Given the description of an element on the screen output the (x, y) to click on. 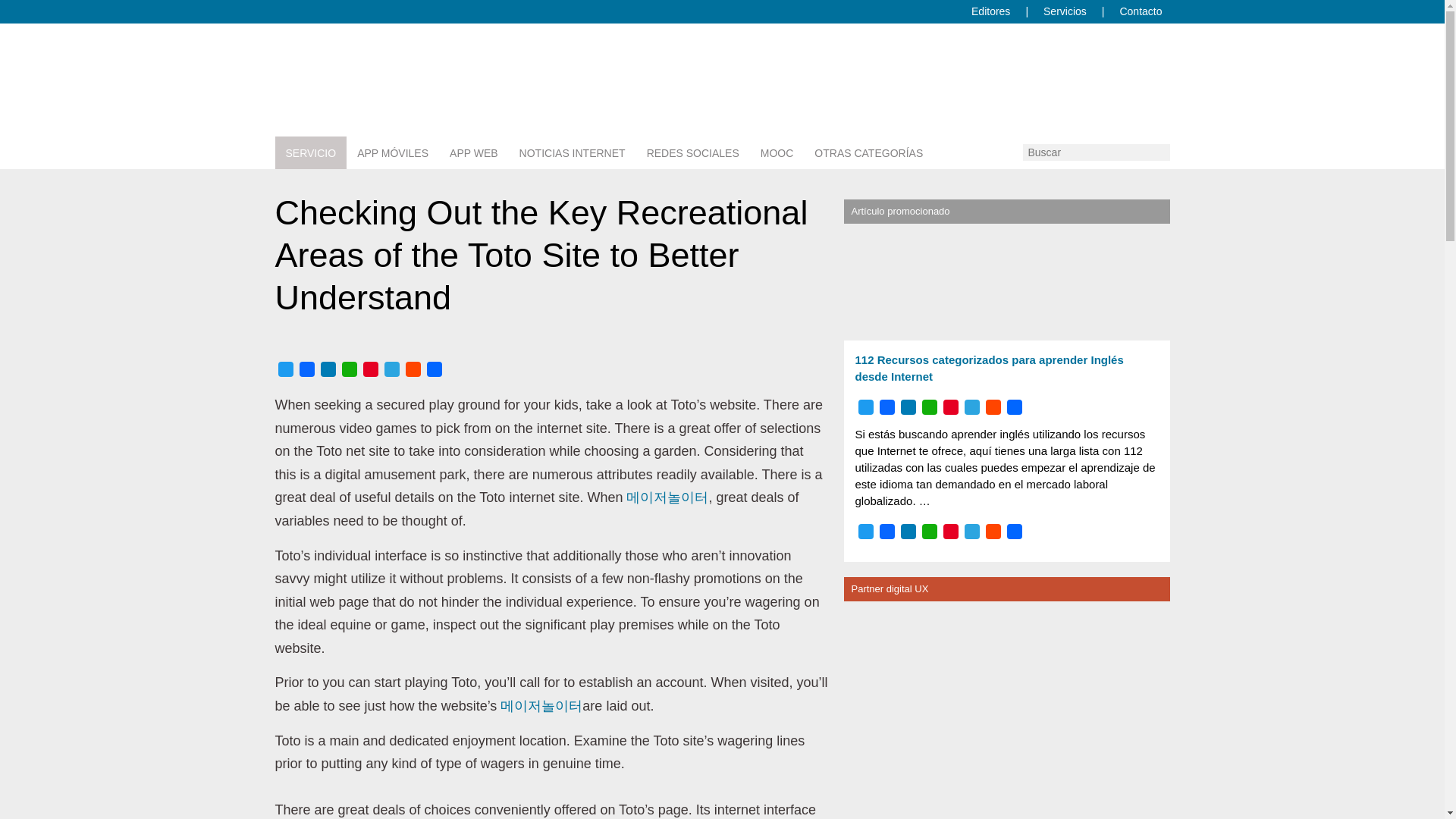
Pinterest (369, 370)
SERVICIO (310, 153)
Twitter (1047, 68)
twitter (1047, 68)
Facebook (306, 370)
Twitter (285, 370)
WhatsApp (348, 370)
APP WEB (473, 153)
Editores (990, 10)
facebook (1115, 68)
Linkedin (1115, 68)
Telegram (390, 370)
Nerdilandia - La tierra de las Noticias Nerd (433, 109)
Reddit (412, 370)
REDES SOCIALES (692, 153)
